Given the description of an element on the screen output the (x, y) to click on. 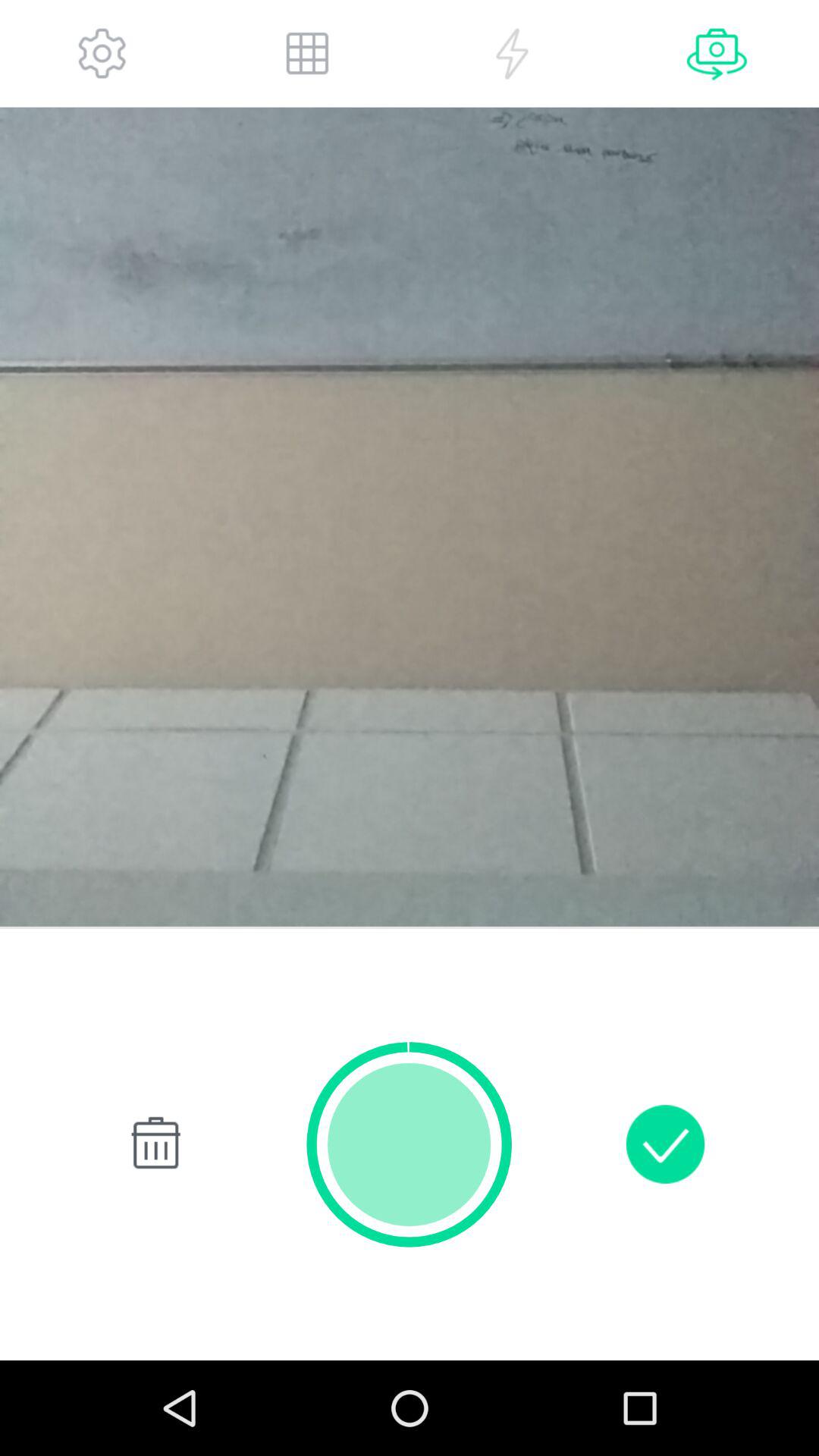
view app settings (102, 53)
